Given the description of an element on the screen output the (x, y) to click on. 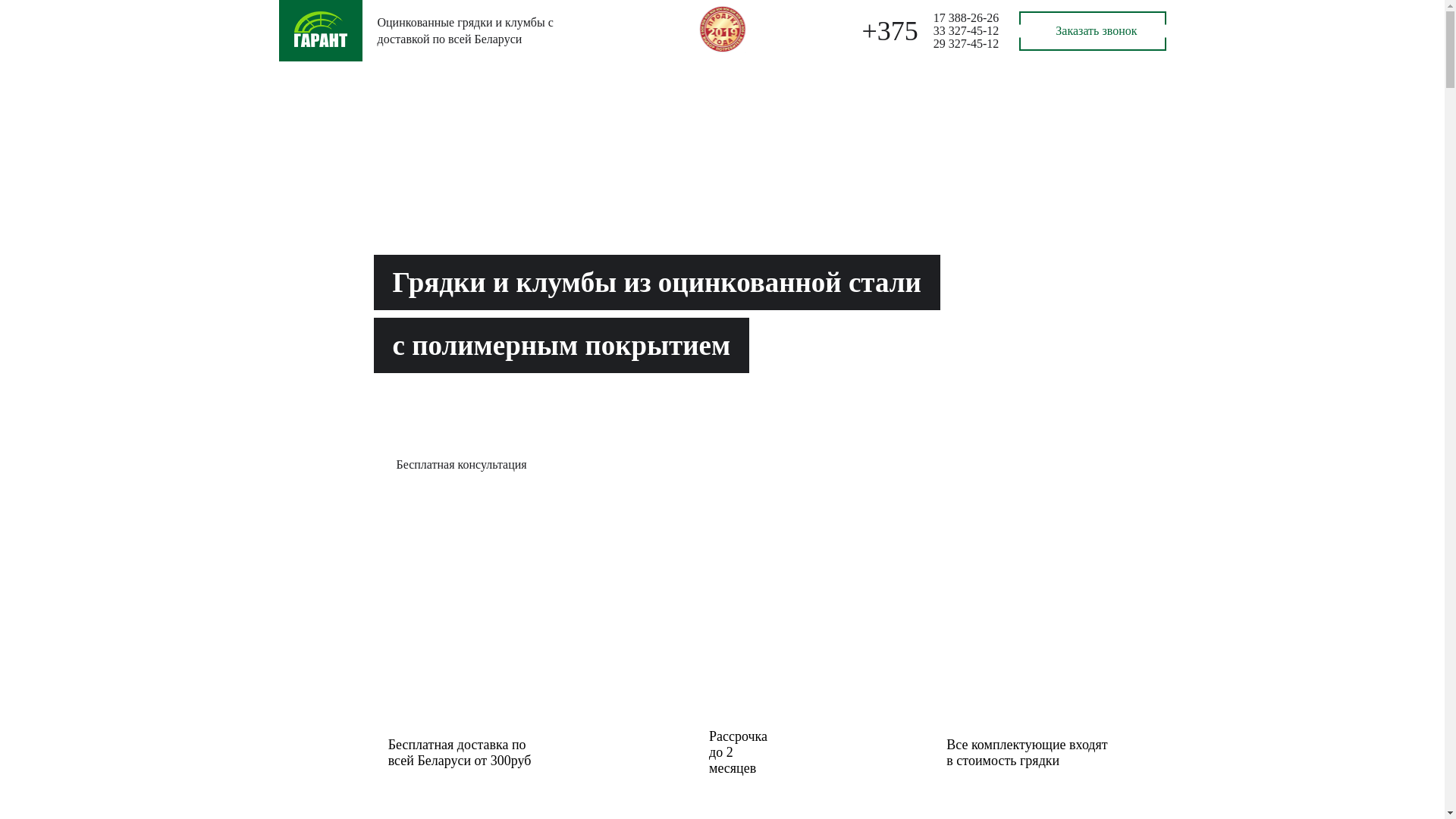
33 327-45-12 Element type: text (966, 30)
29 327-45-12 Element type: text (966, 43)
17 388-26-26 Element type: text (966, 17)
